Given the description of an element on the screen output the (x, y) to click on. 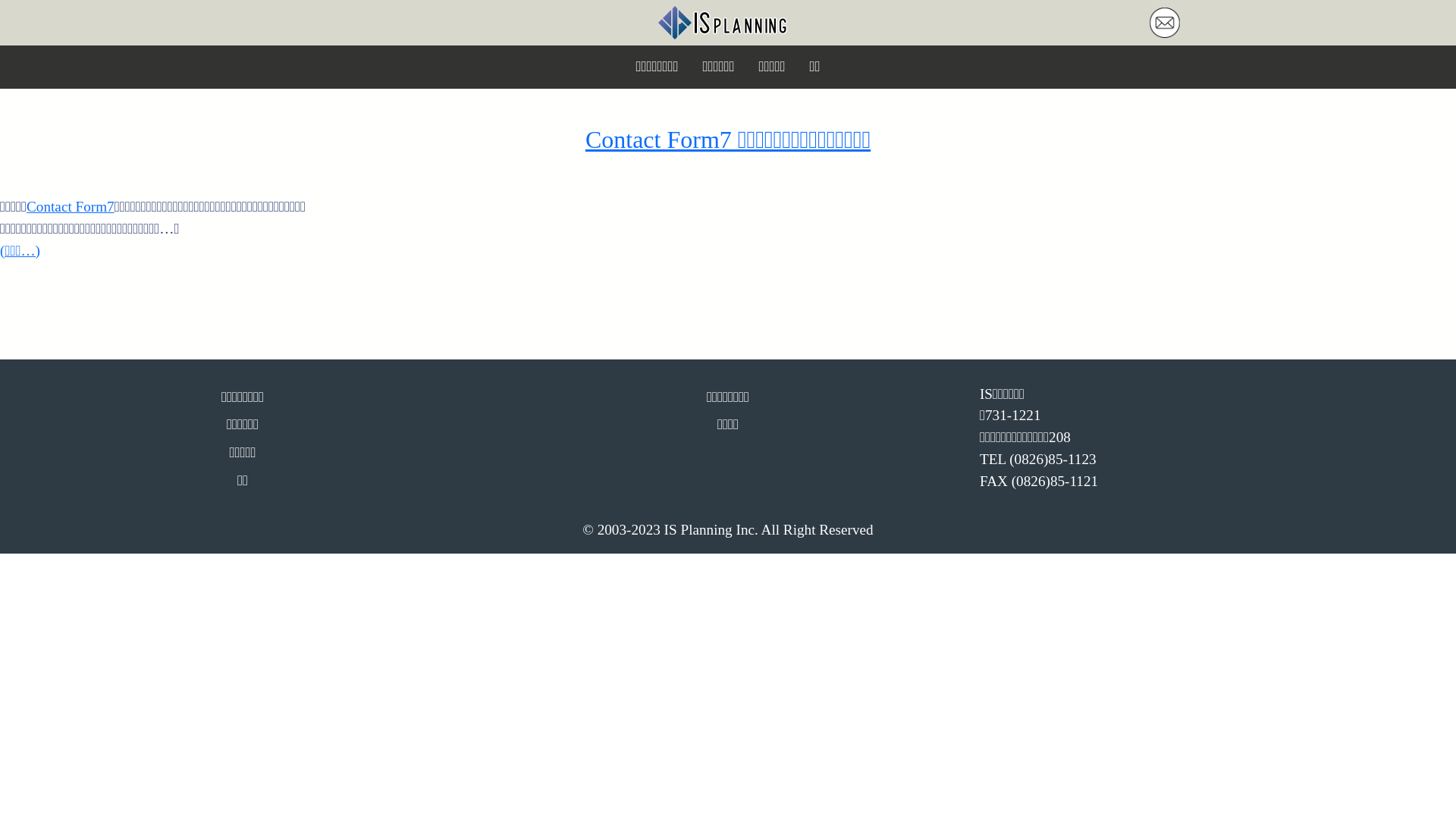
Contact Form7 Element type: text (70, 206)
